Given the description of an element on the screen output the (x, y) to click on. 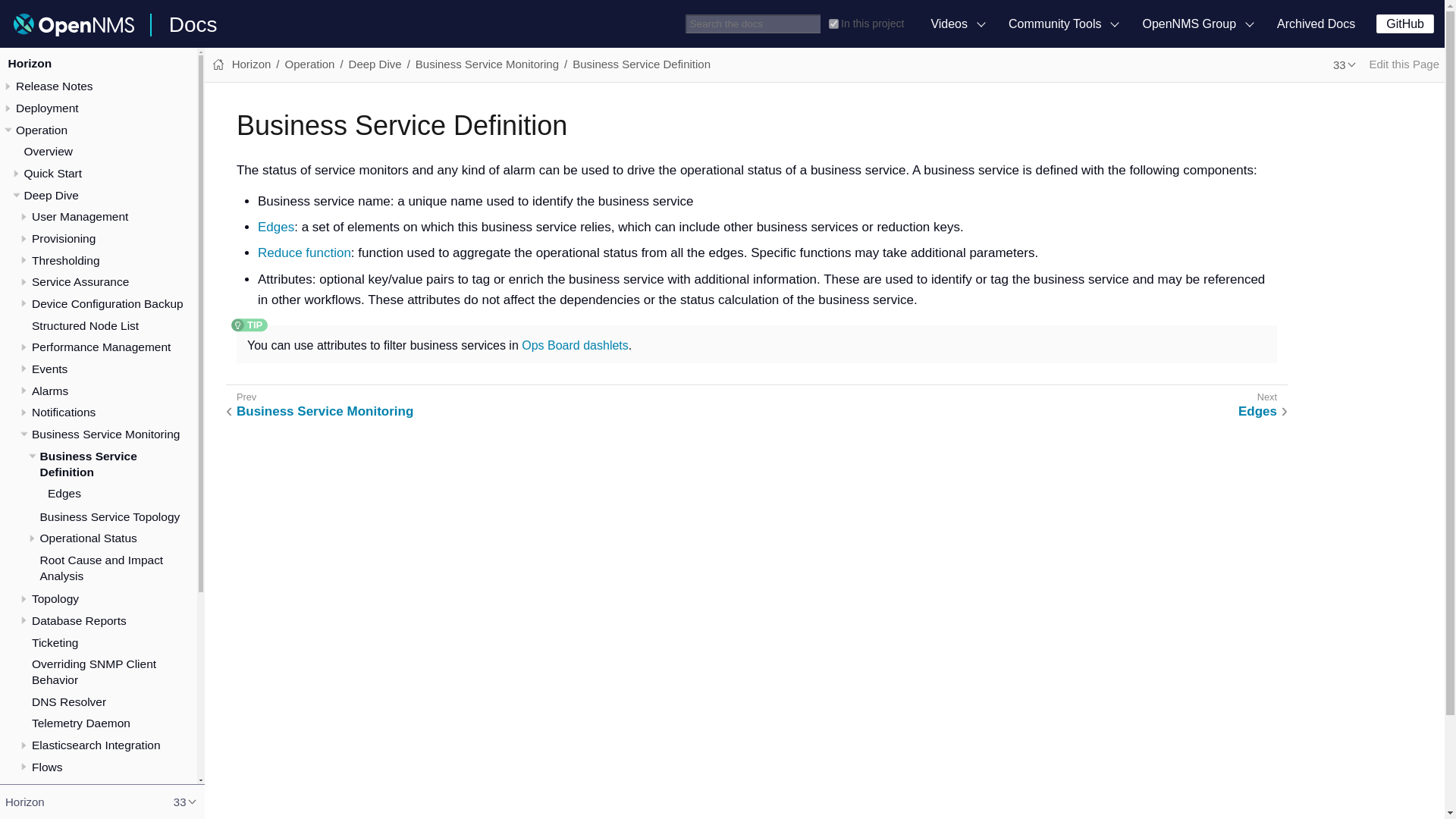
Community Tools (1064, 23)
Archived Docs (1315, 23)
Show other versions of page (1344, 65)
on (833, 23)
GitHub (1404, 23)
Docs (192, 23)
Horizon (28, 62)
Videos (958, 23)
OpenNMS Group (1198, 23)
Tip (248, 325)
